Given the description of an element on the screen output the (x, y) to click on. 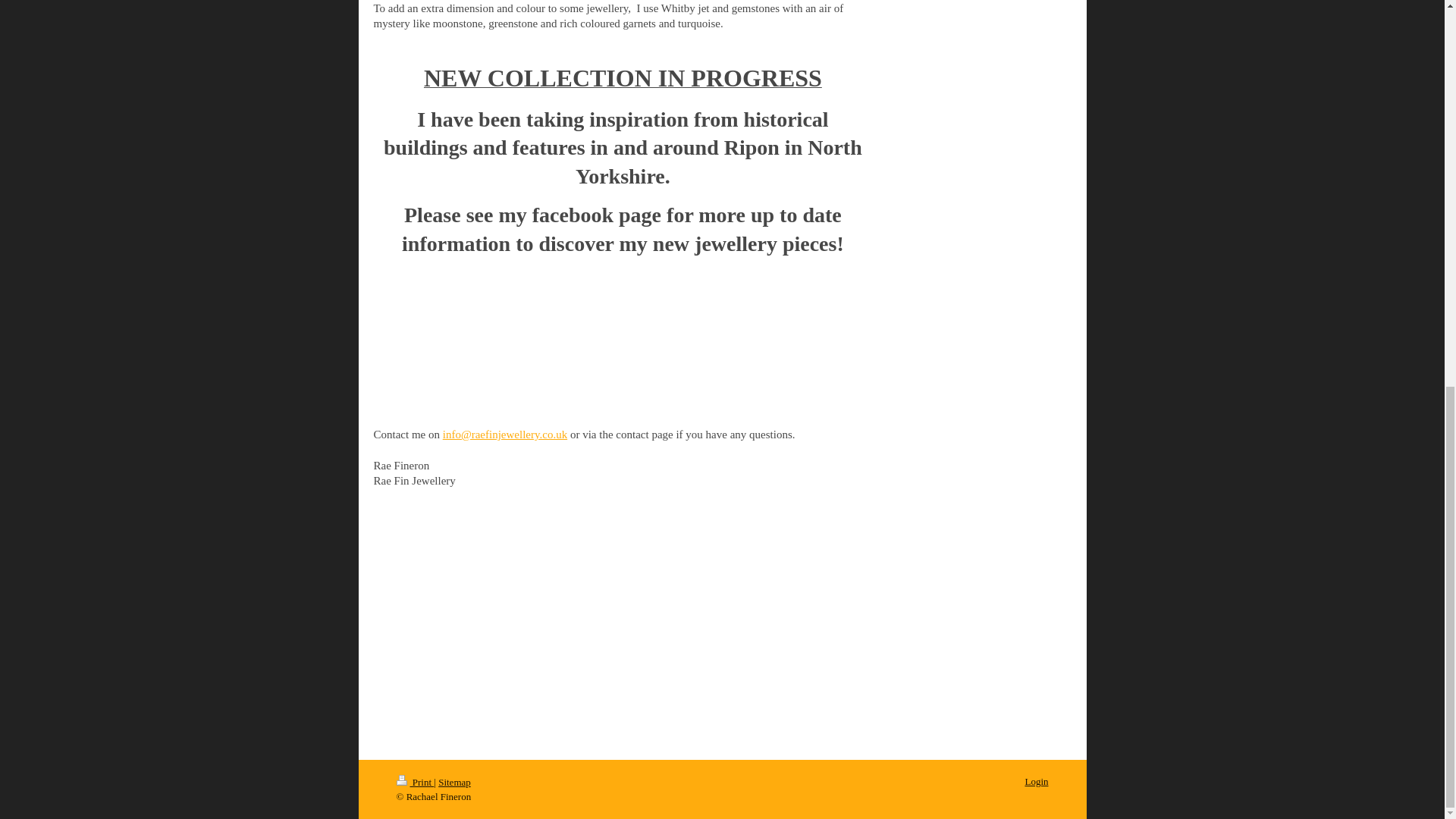
Sitemap (454, 781)
Login (1036, 781)
Print (414, 781)
